Given the description of an element on the screen output the (x, y) to click on. 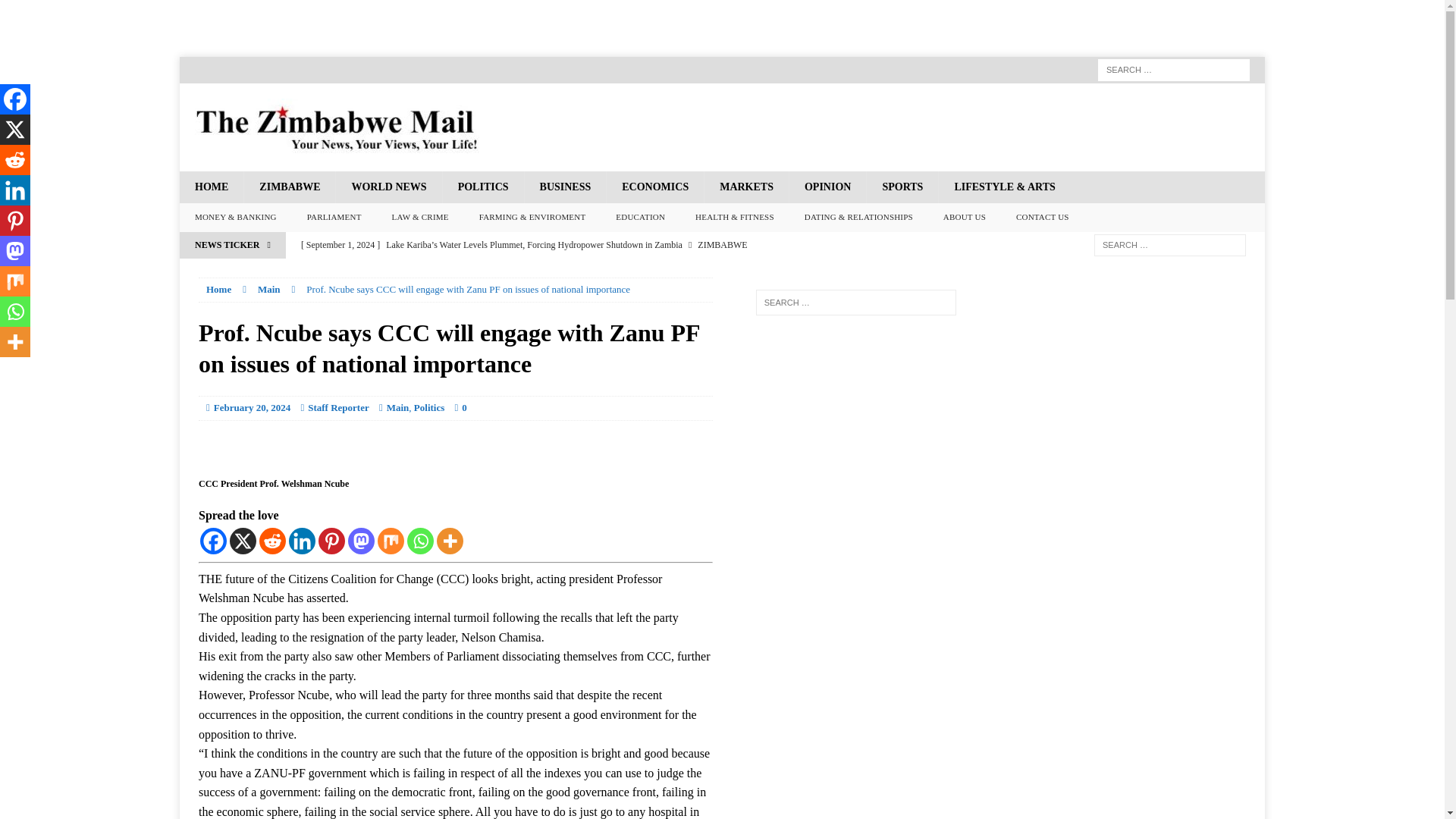
WORLD NEWS (387, 187)
Politics (428, 407)
ECONOMICS (654, 187)
X (243, 540)
Staff Reporter (338, 407)
BUSINESS (565, 187)
Whatsapp (420, 540)
PARLIAMENT (334, 217)
ABOUT US (964, 217)
The Zimbabwe Mail (722, 127)
